Given the description of an element on the screen output the (x, y) to click on. 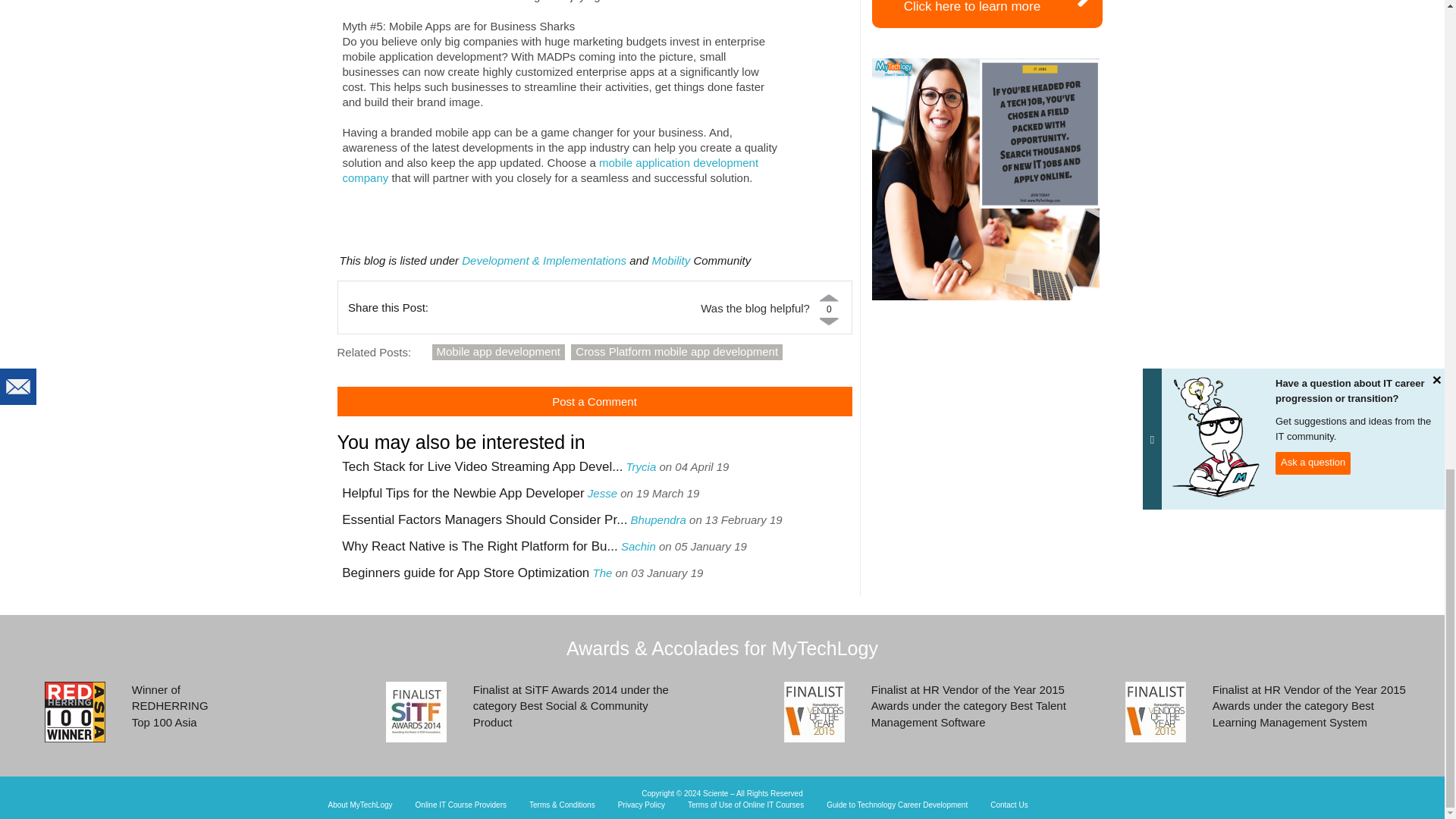
This post is useful (828, 297)
This post is unclear and not useful (828, 320)
mobile application development company (550, 170)
Mobile app development (498, 351)
mobile application development company (550, 170)
Winner of REDHERRING Top 100 Asia (74, 711)
Cross Platform mobile app development (676, 351)
Helpful Tips for the Newbie App Developer (462, 493)
